Given the description of an element on the screen output the (x, y) to click on. 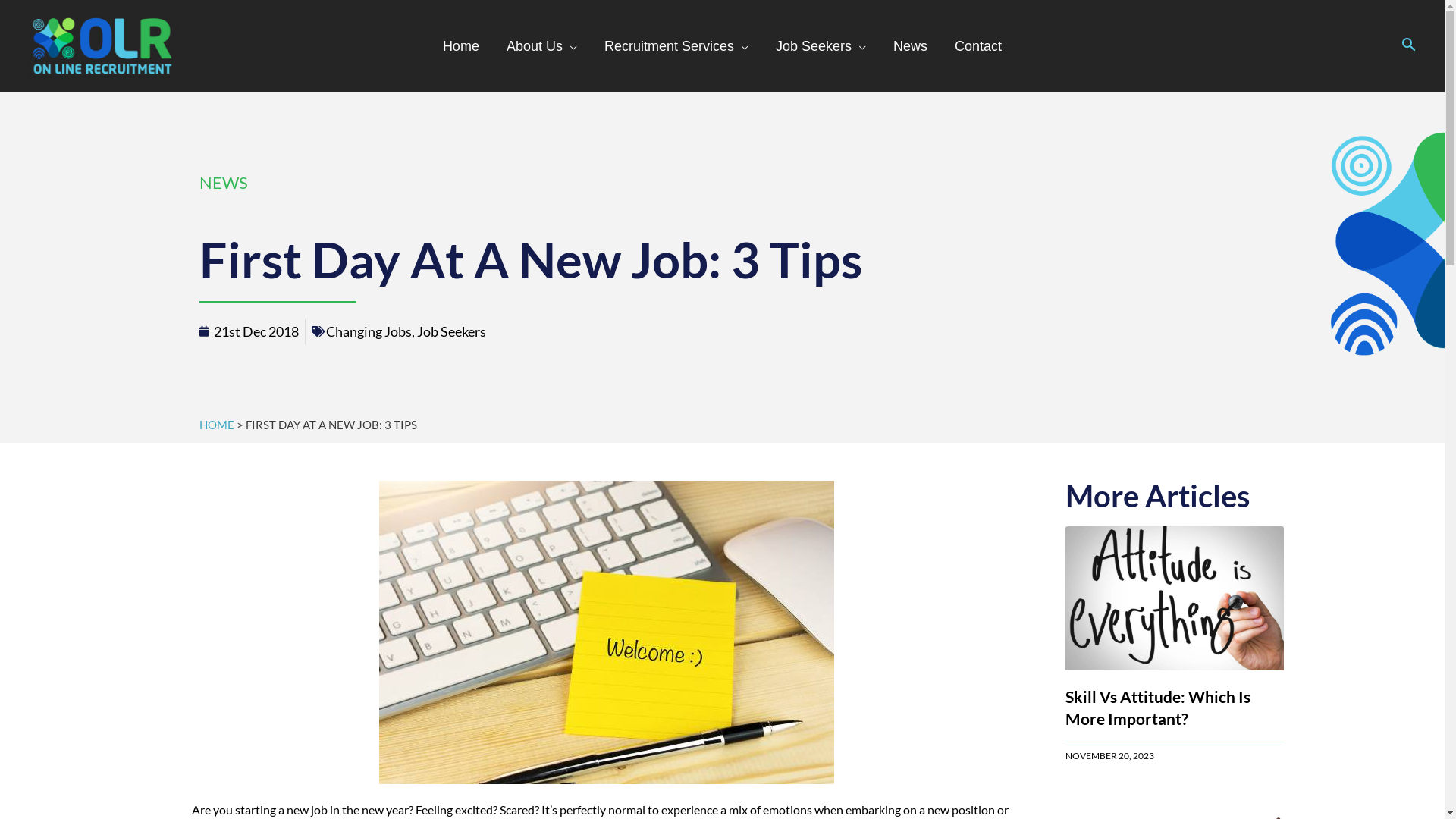
Job Seekers Element type: text (451, 331)
HOME Element type: text (215, 424)
About Us Element type: text (541, 45)
Changing Jobs Element type: text (368, 331)
Job Seekers Element type: text (820, 45)
Home Element type: text (460, 45)
Contact Element type: text (978, 45)
Skill Vs Attitude: Which Is More Important? Element type: text (1156, 707)
Recruitment Services Element type: text (676, 45)
News Element type: text (910, 45)
